Given the description of an element on the screen output the (x, y) to click on. 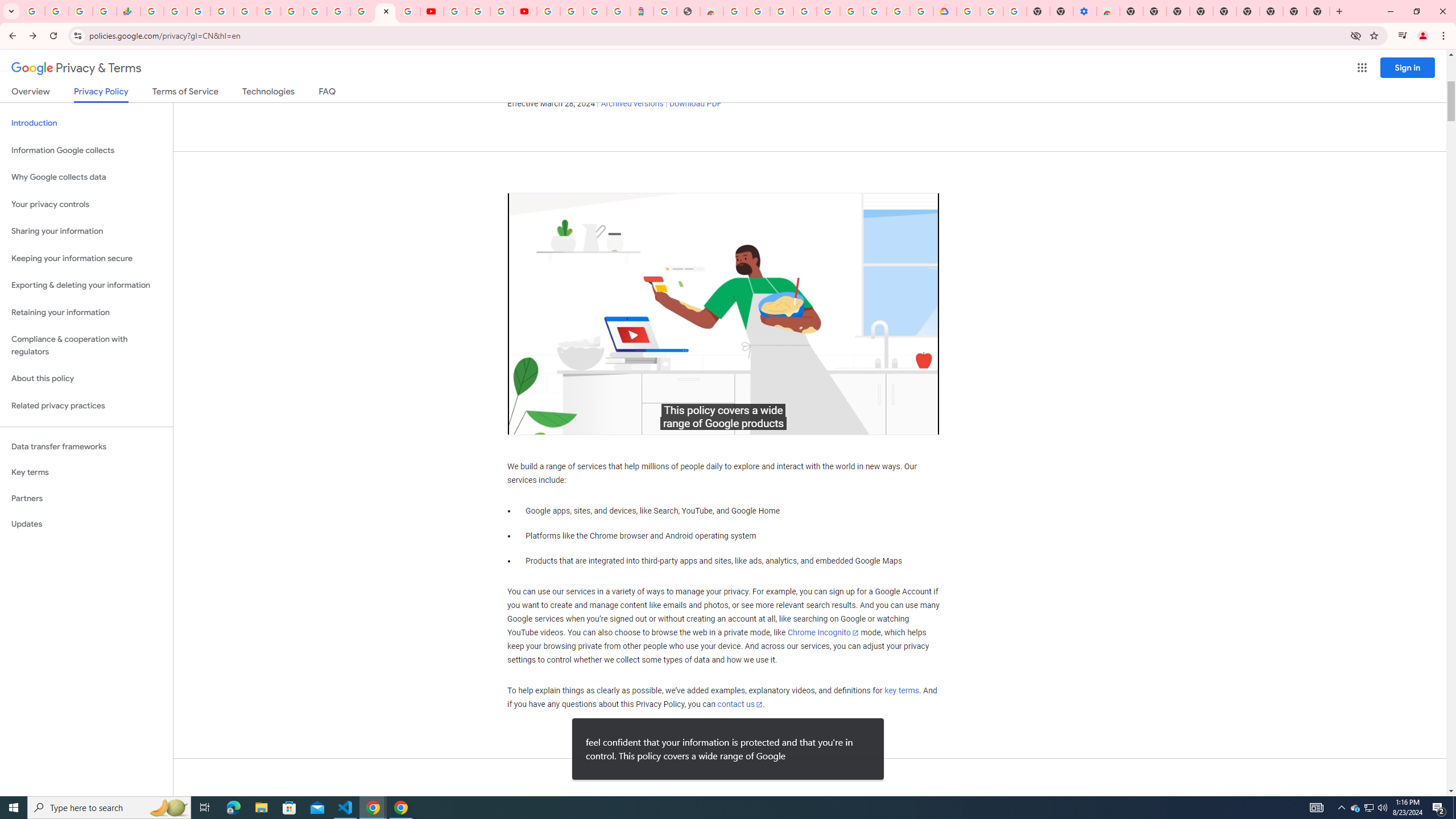
Android TV Policies and Guidelines - Transparency Center (291, 11)
Ad Settings (804, 11)
Take the Privacy Checkup (597, 62)
Sign in - Google Accounts (571, 11)
New Tab (1131, 11)
contact us (739, 704)
Chrome Web Store - Household (711, 11)
